Given the description of an element on the screen output the (x, y) to click on. 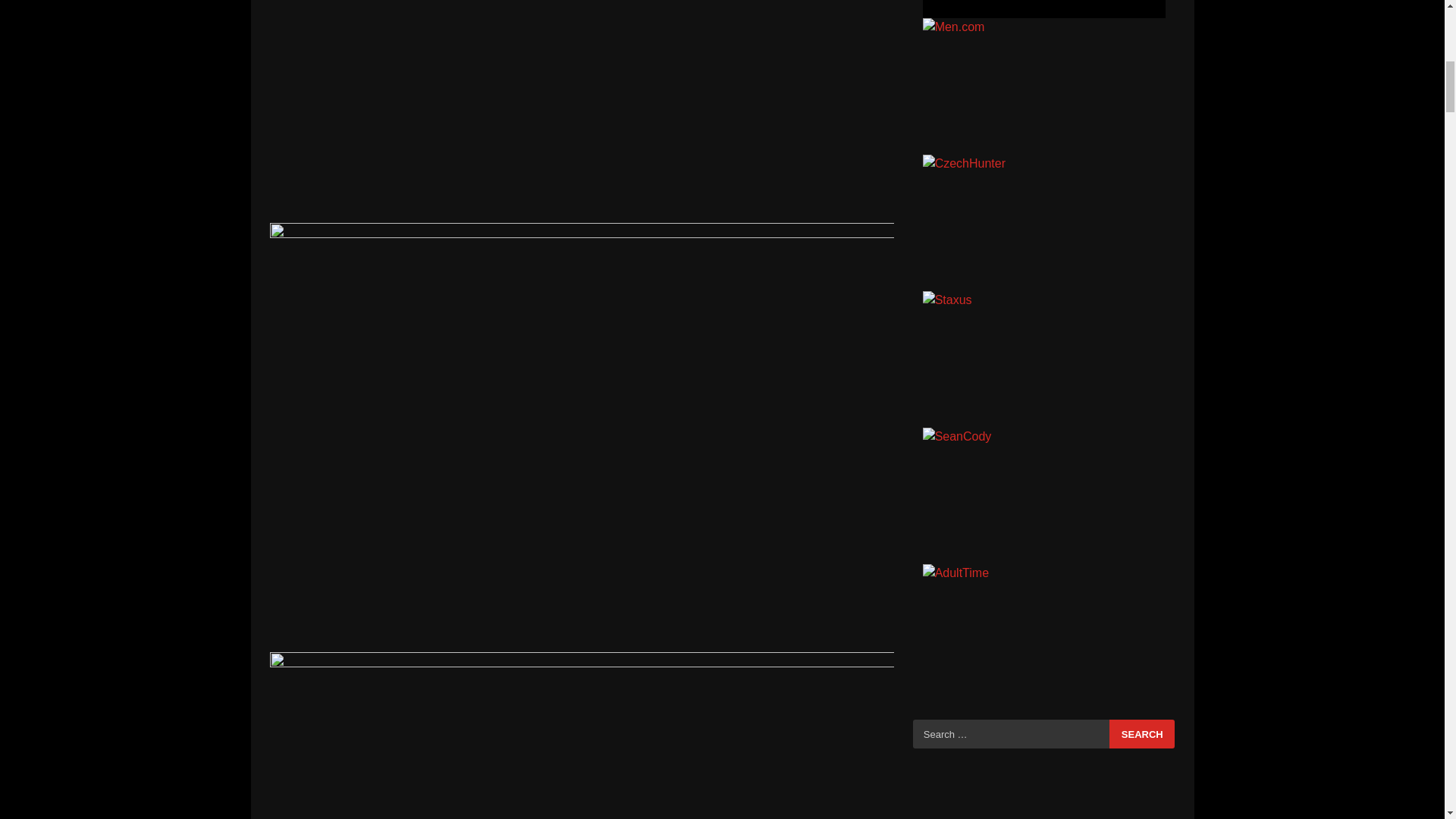
Search (1141, 733)
Search (1141, 733)
